Given the description of an element on the screen output the (x, y) to click on. 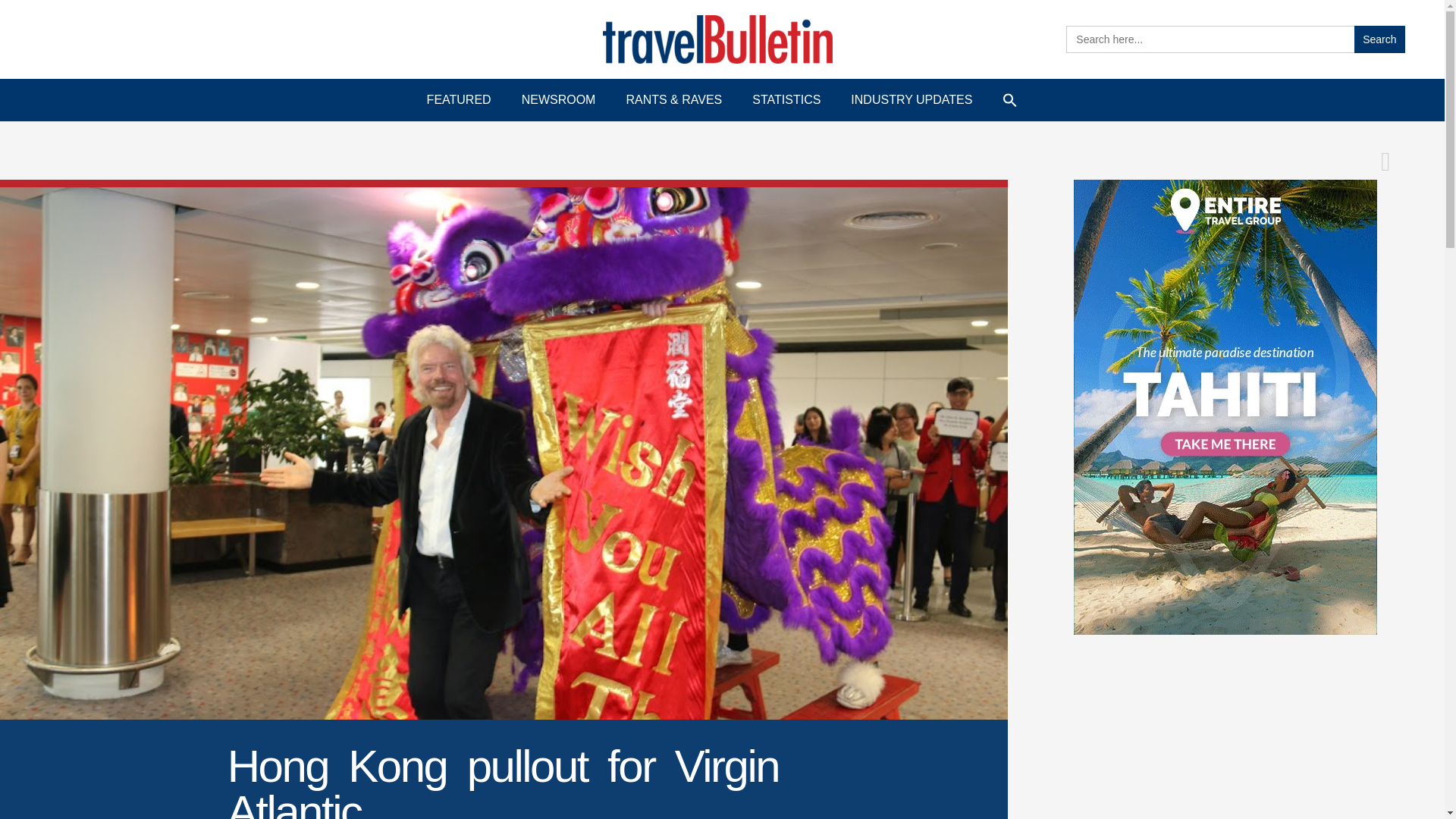
Search (1379, 39)
STATISTICS (785, 99)
Search (1379, 39)
FEATURED (459, 99)
INDUSTRY UPDATES (911, 99)
Search (1379, 39)
NEWSROOM (558, 99)
